Given the description of an element on the screen output the (x, y) to click on. 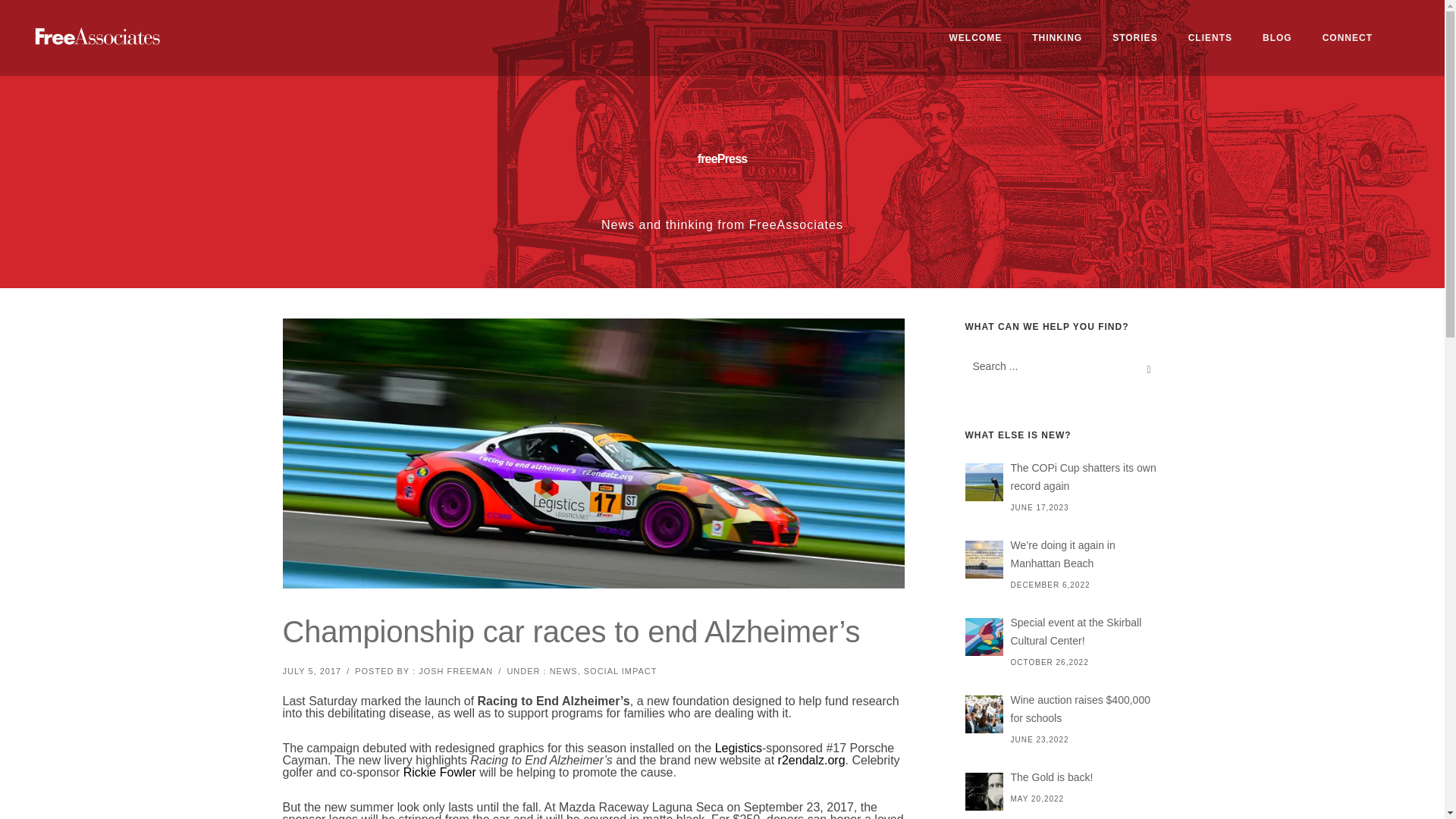
WELCOME (975, 37)
Welcome (975, 37)
STORIES (1134, 37)
THINKING (1056, 37)
Thinking (1056, 37)
Stories (1134, 37)
